Given the description of an element on the screen output the (x, y) to click on. 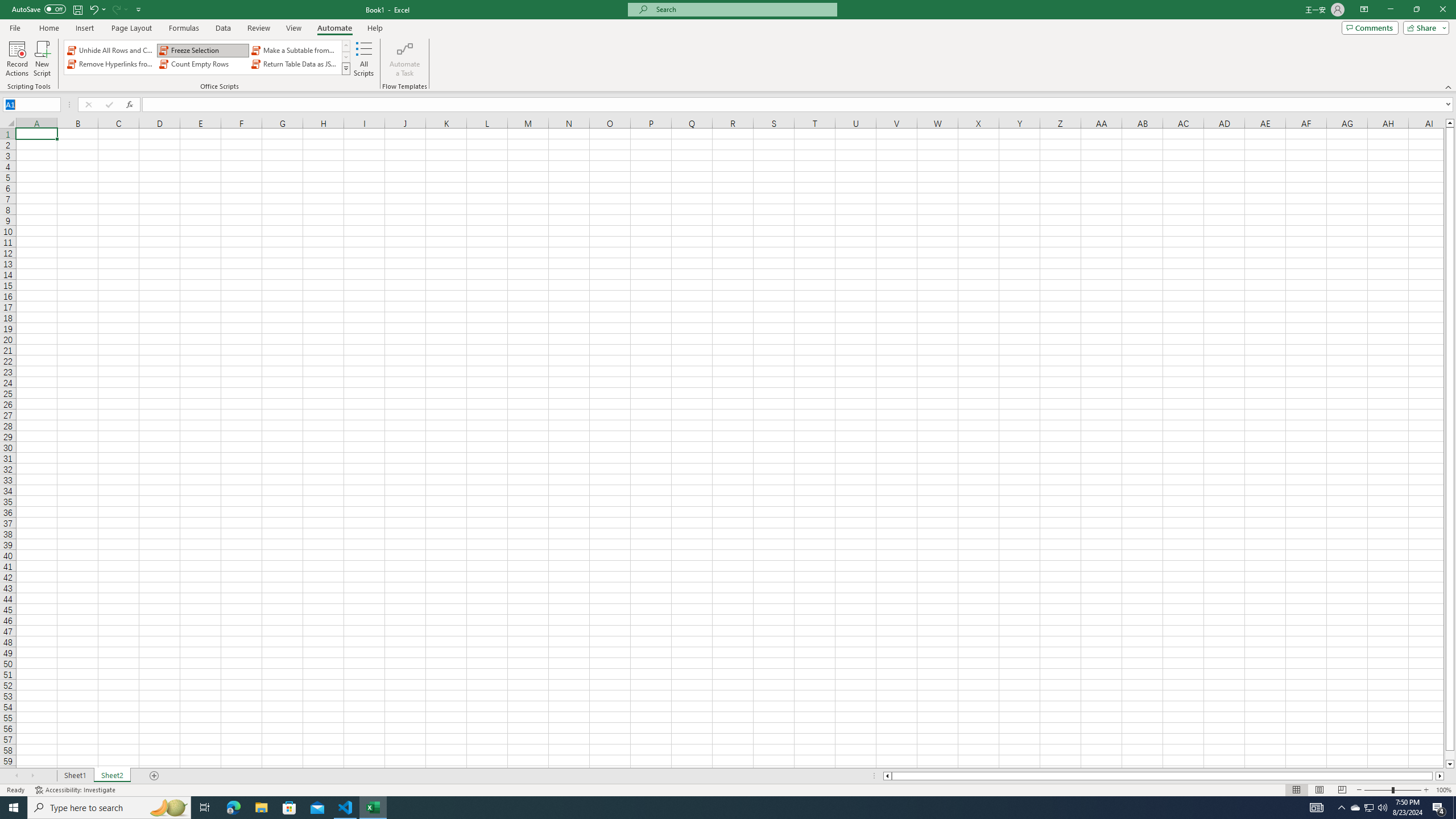
Remove Hyperlinks from Sheet (111, 64)
Make a Subtable from a Selection (294, 50)
Return Table Data as JSON (294, 64)
